Given the description of an element on the screen output the (x, y) to click on. 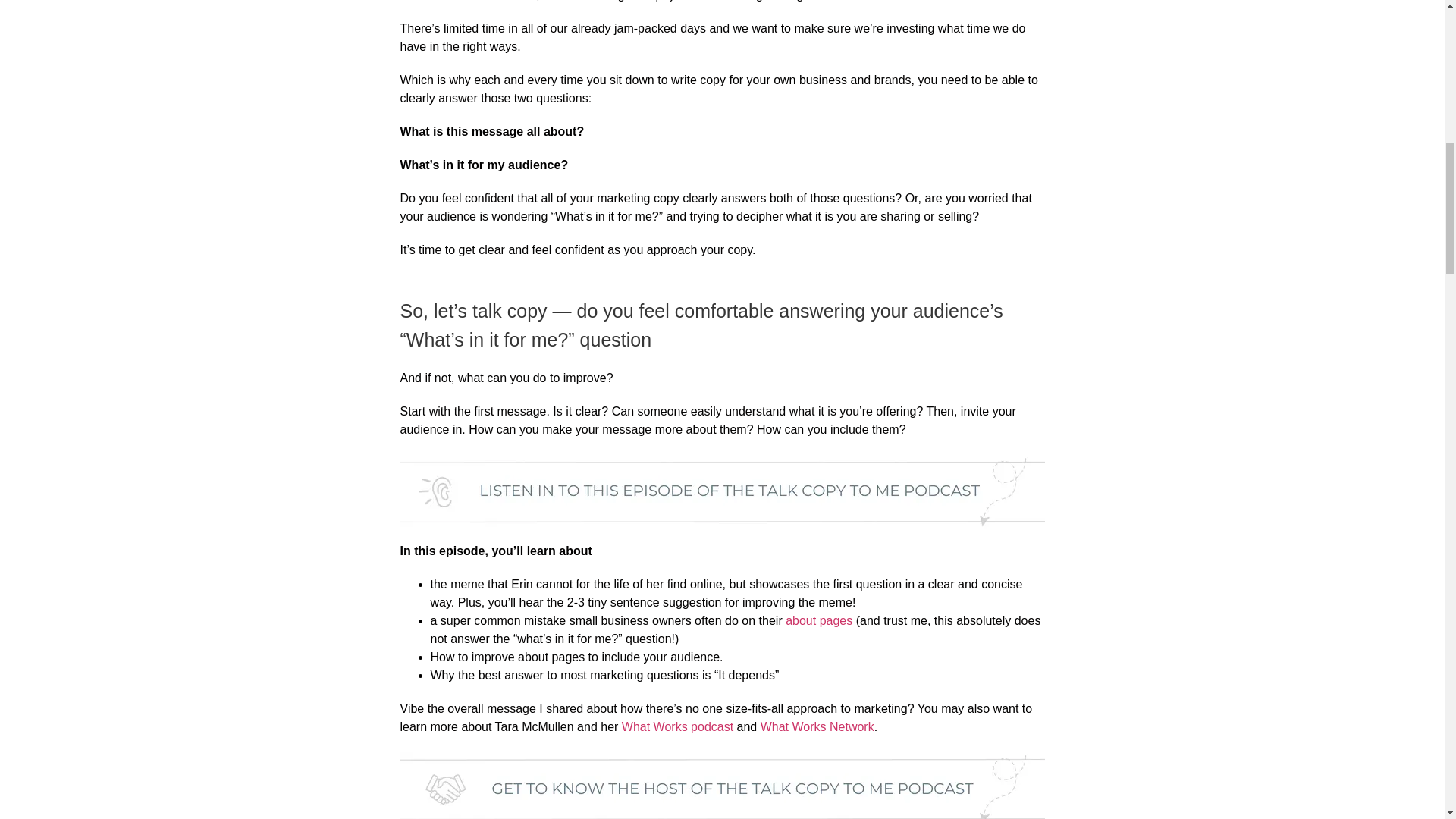
email (475, 0)
What Works podcast (677, 726)
What Works Network (817, 726)
about pages (818, 620)
